Given the description of an element on the screen output the (x, y) to click on. 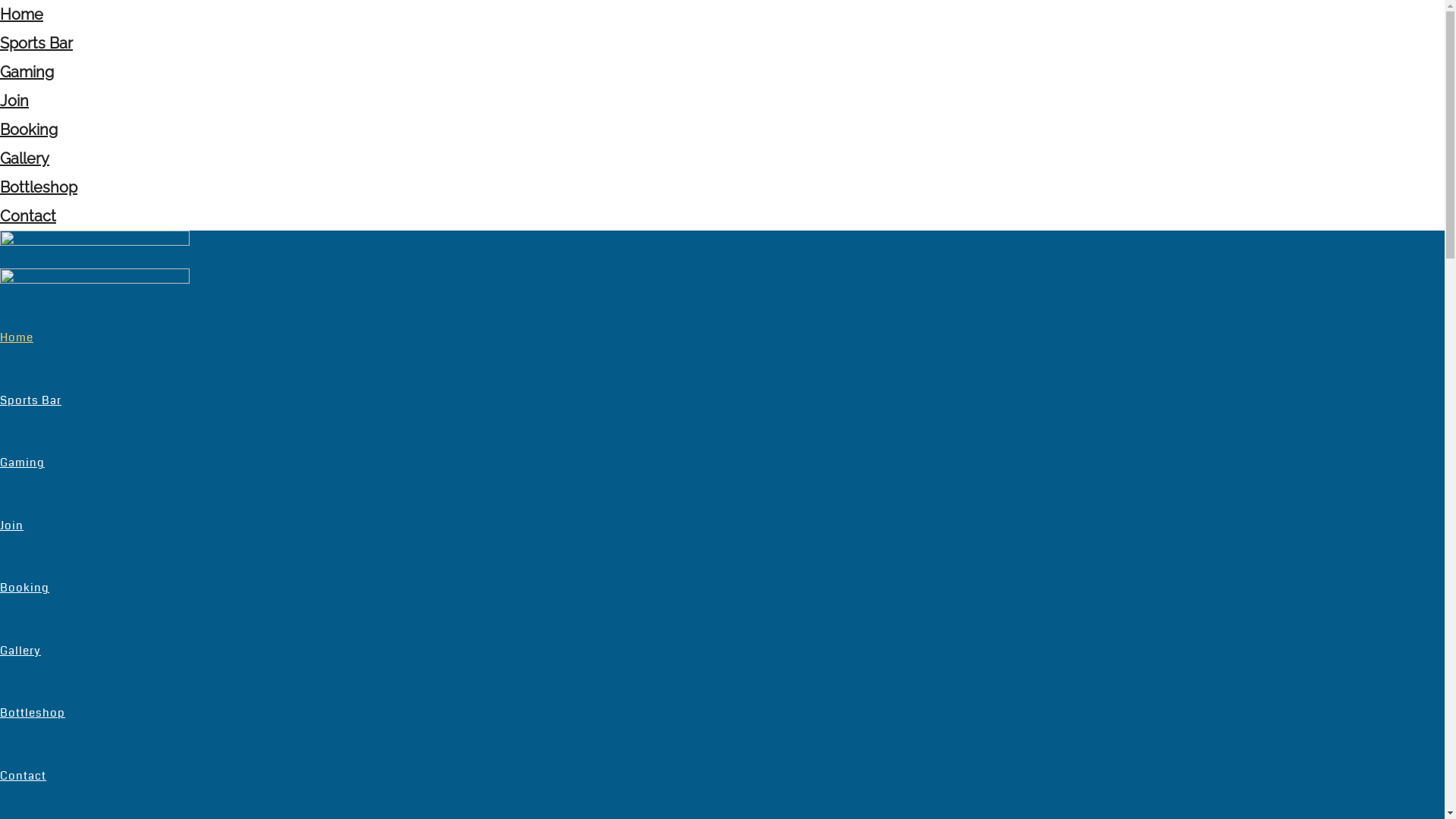
Gallery Element type: text (24, 158)
Contact Element type: text (23, 775)
Join Element type: text (11, 525)
Join Element type: text (14, 100)
Home Element type: text (16, 337)
Bottleshop Element type: text (32, 712)
Contact Element type: text (28, 216)
Booking Element type: text (28, 129)
Sports Bar Element type: text (30, 400)
Home Element type: text (21, 14)
Bottleshop Element type: text (38, 187)
Gaming Element type: text (26, 71)
Gaming Element type: text (22, 462)
Sports Bar Element type: text (36, 43)
Booking Element type: text (24, 587)
Gallery Element type: text (20, 650)
